Given the description of an element on the screen output the (x, y) to click on. 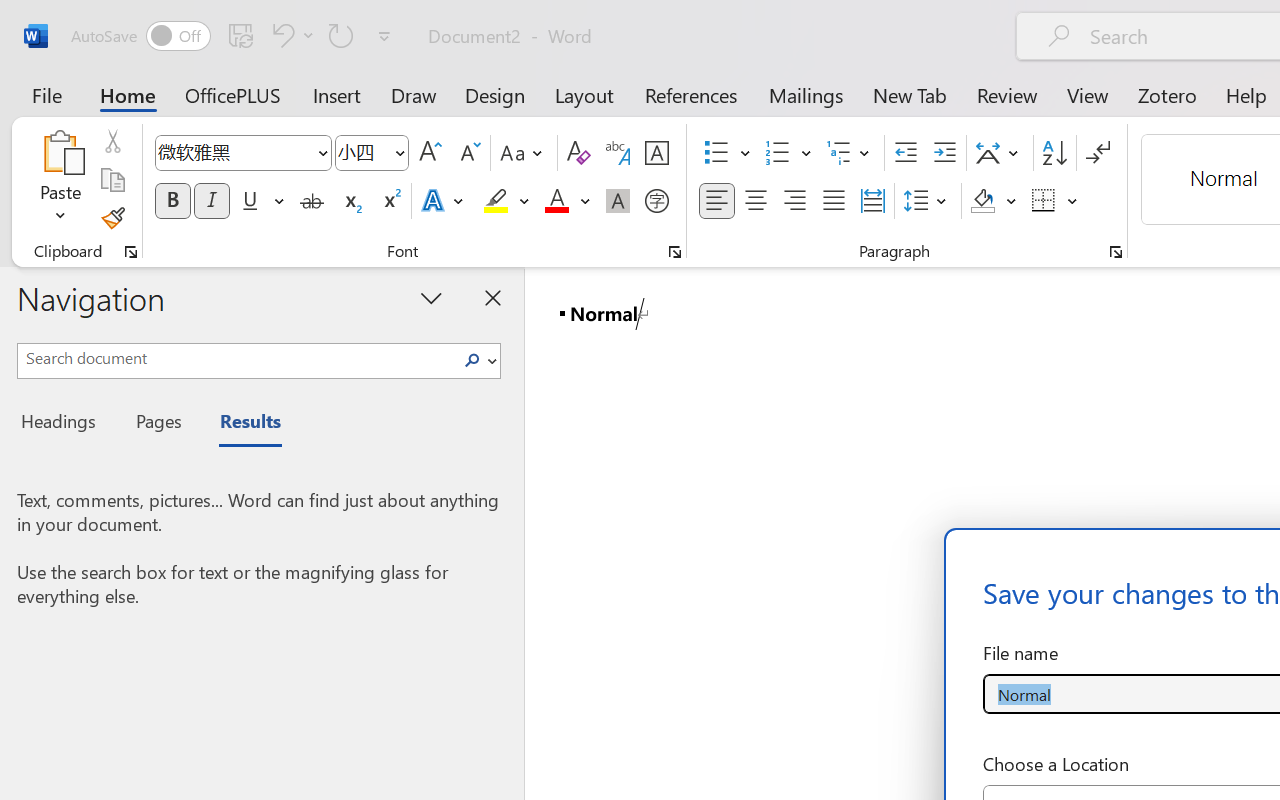
Grow Font (430, 153)
Undo Style (280, 35)
Bullets (727, 153)
Search (471, 360)
Underline (250, 201)
Font... (675, 252)
Repeat Style (341, 35)
Customize Quick Access Toolbar (384, 35)
New Tab (909, 94)
Class: NetUIImage (471, 360)
Phonetic Guide... (618, 153)
Shading (993, 201)
Clear Formatting (578, 153)
Font Color (567, 201)
Borders (1044, 201)
